Given the description of an element on the screen output the (x, y) to click on. 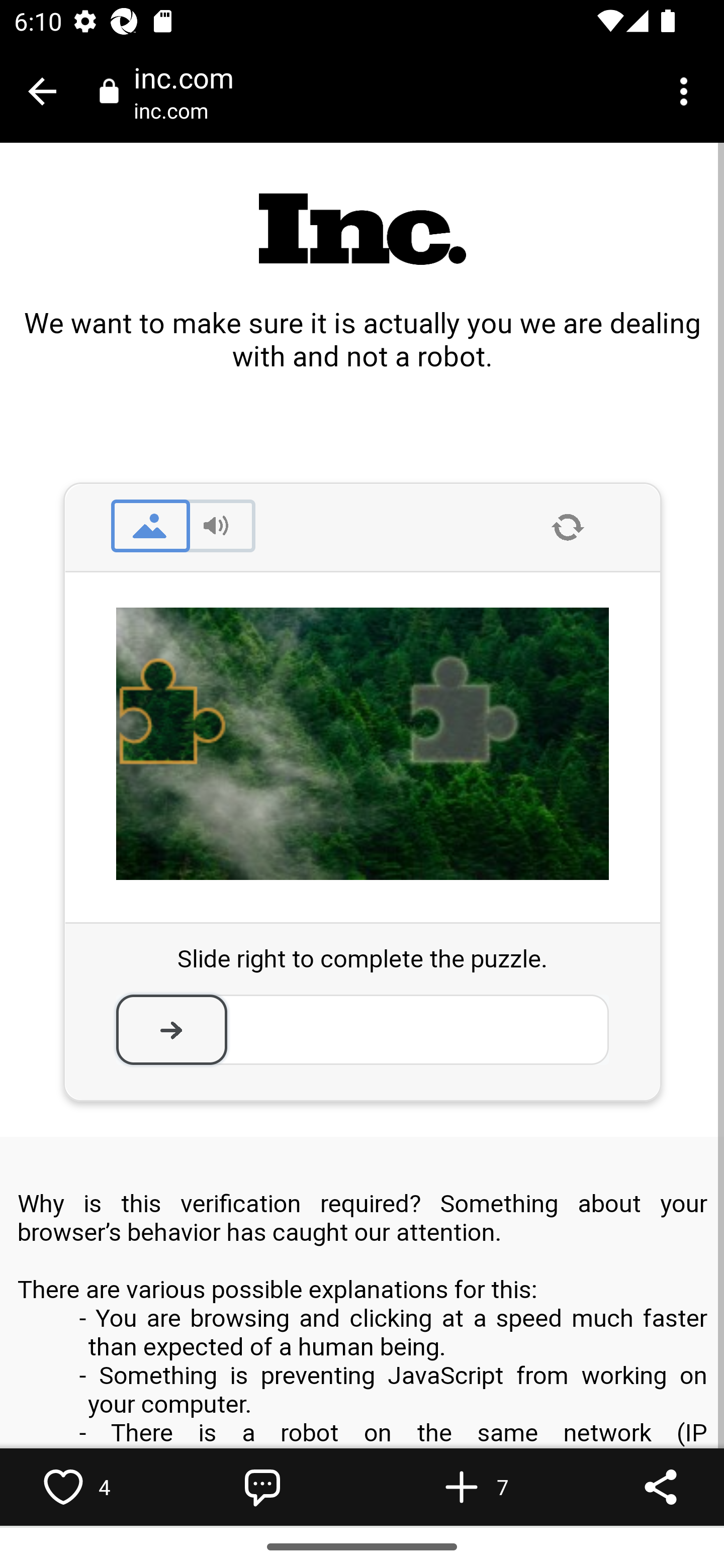
Close tab (42, 91)
More options (687, 91)
Connection is secure (108, 90)
inc.com (177, 109)
Switch to image CAPTCHA. (150, 525)
Switch to audio CAPTCHA. (216, 525)
Reload CAPTCHA. (567, 527)
Like (63, 1486)
Write a comment… (262, 1486)
Flip into Magazine (461, 1486)
Share (660, 1486)
